Given the description of an element on the screen output the (x, y) to click on. 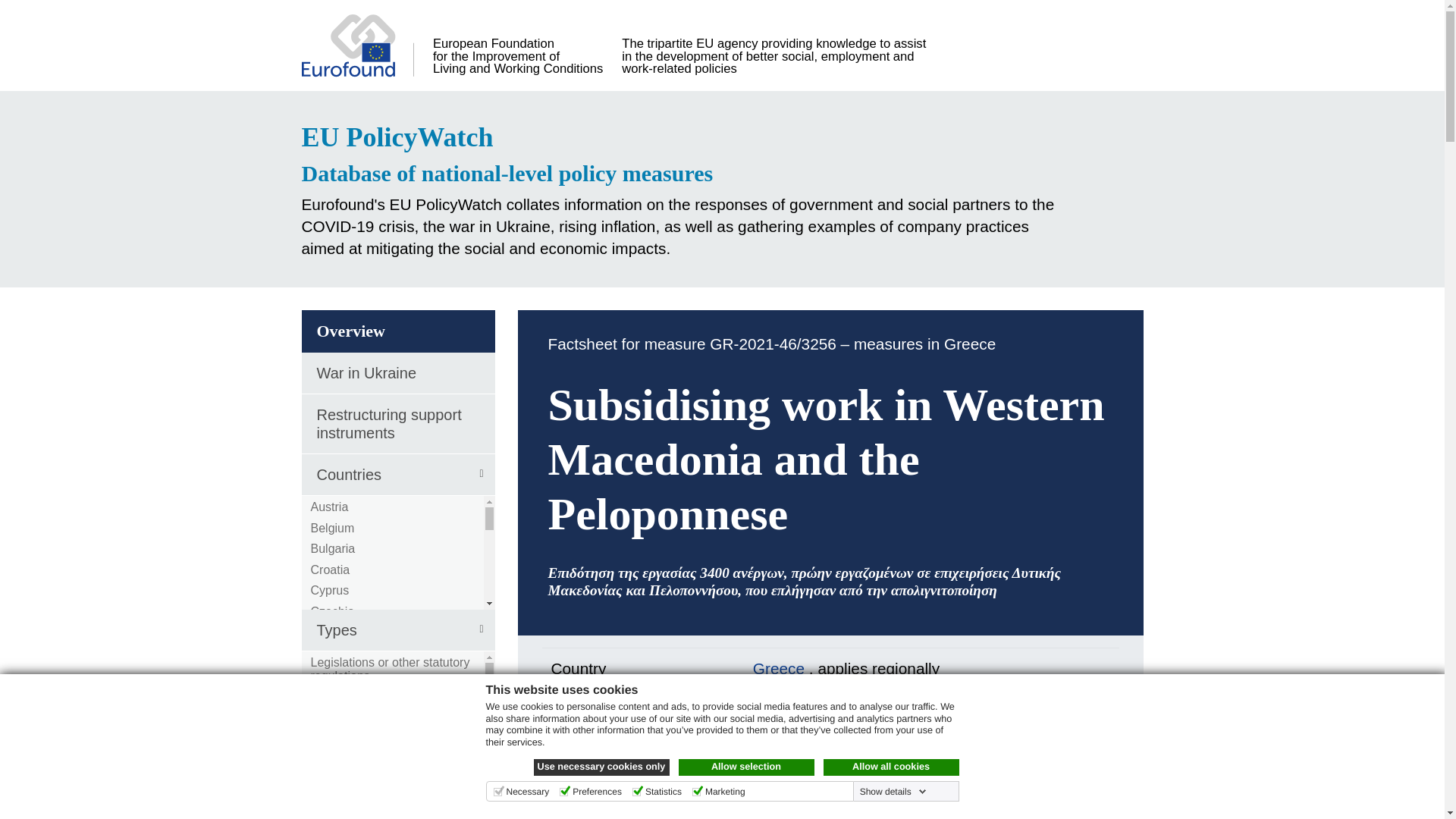
Countries (398, 475)
Allow selection (745, 767)
Show details (893, 791)
Austria (330, 506)
Use necessary cookies only (601, 767)
War in Ukraine (398, 372)
Overview (398, 331)
Belgium (333, 527)
Types (398, 630)
EU PolicyWatch (687, 137)
Allow all cookies (891, 767)
Database of national-level policy measures (687, 173)
